Given the description of an element on the screen output the (x, y) to click on. 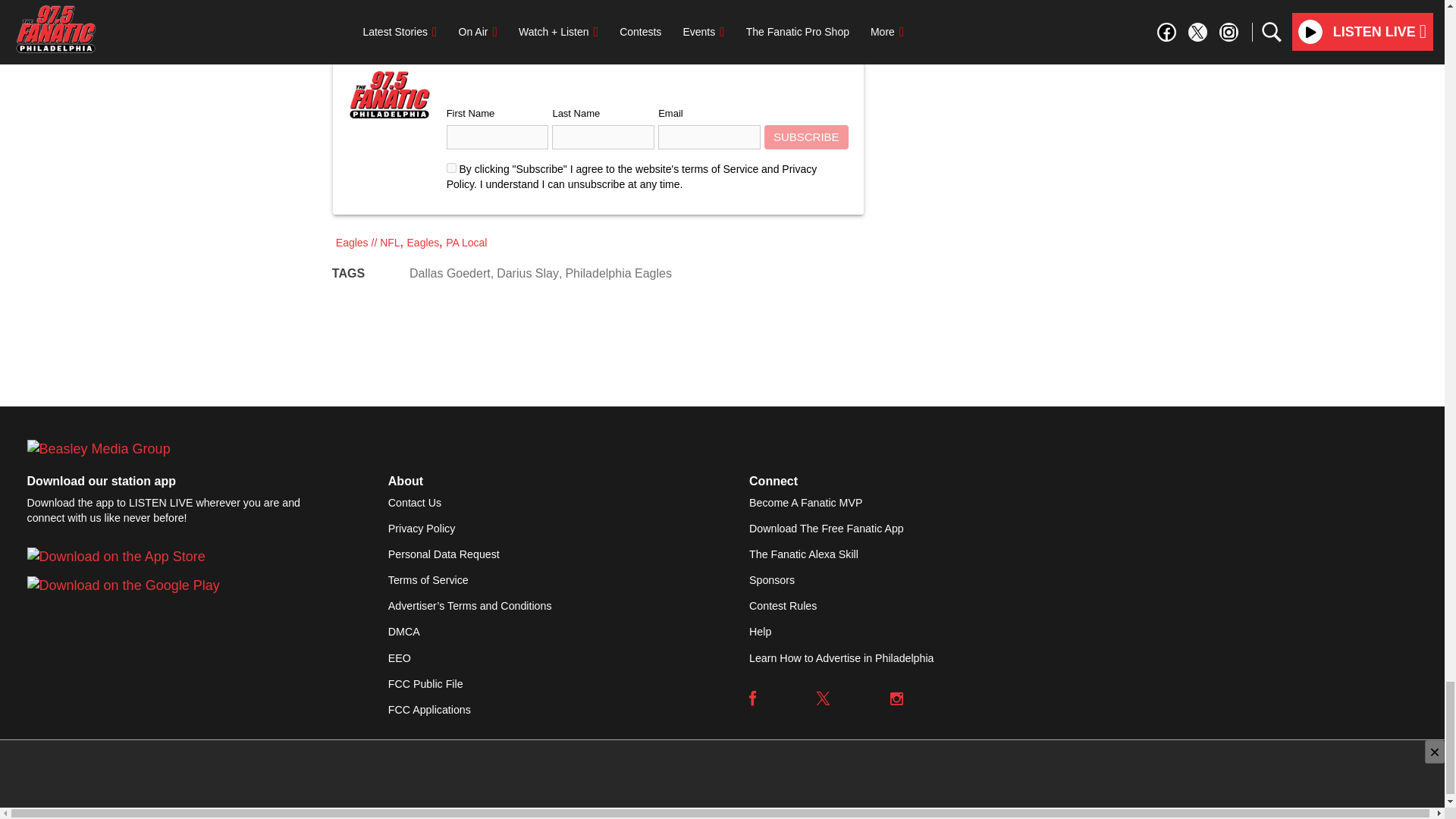
on (451, 167)
Twitter (823, 698)
Instagram (895, 698)
